Given the description of an element on the screen output the (x, y) to click on. 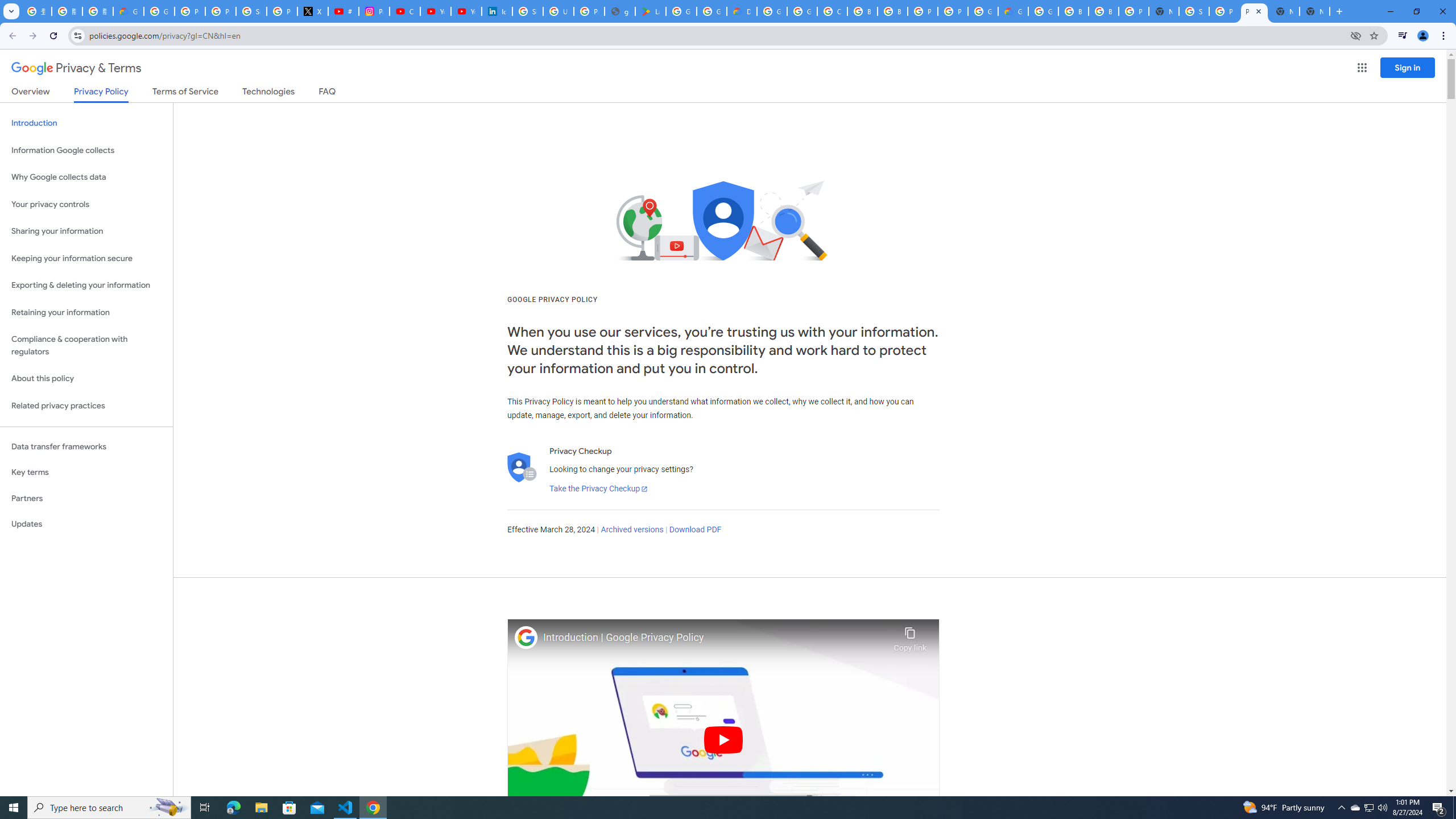
Google Cloud Platform (1042, 11)
New Tab (1314, 11)
YouTube Culture & Trends - YouTube Top 10, 2021 (465, 11)
Copy link (909, 636)
